Given the description of an element on the screen output the (x, y) to click on. 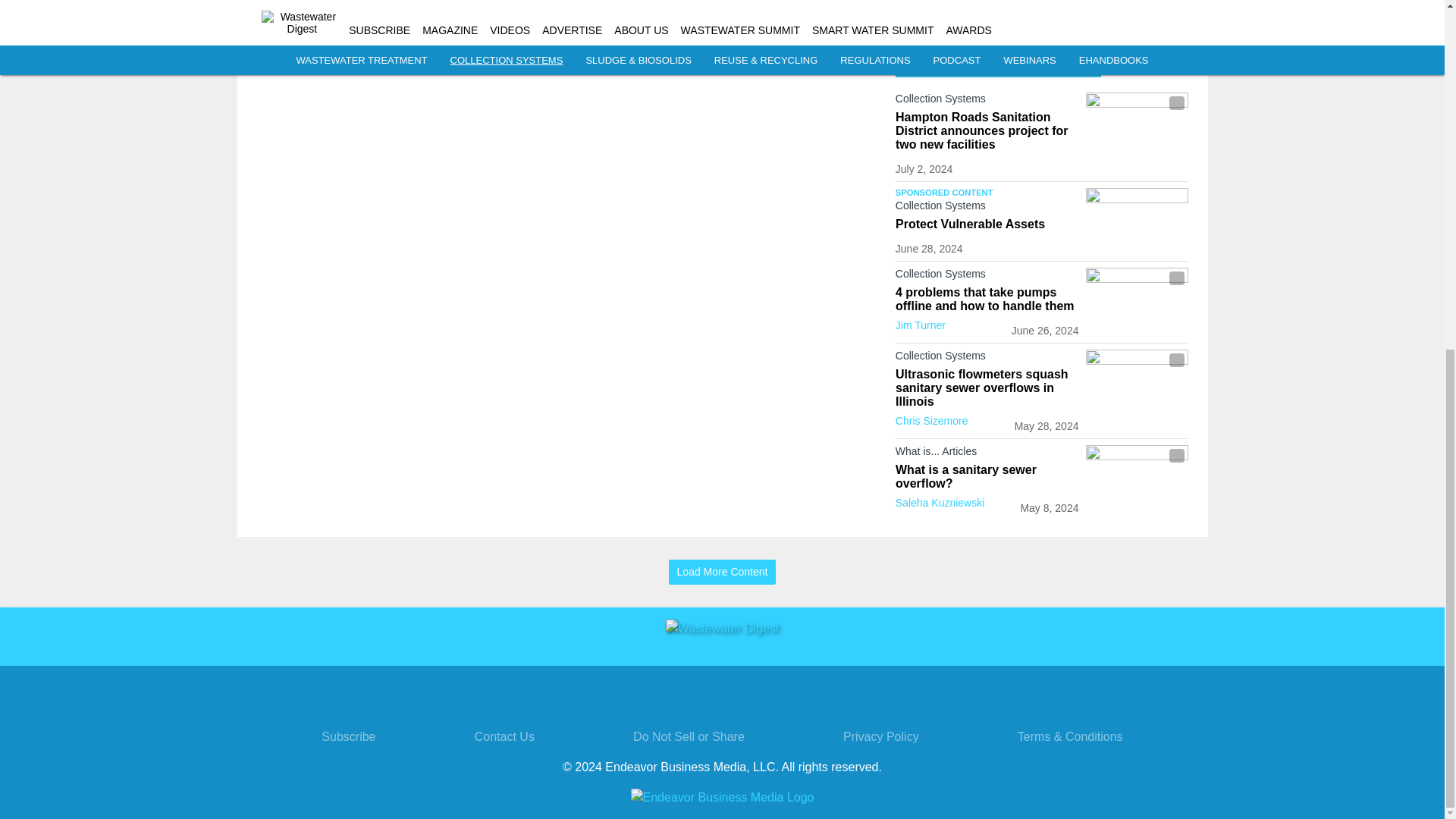
Collection Systems (986, 208)
Collection Systems (986, 101)
LATEST IN COLLECTION SYSTEMS (997, 61)
Protect Vulnerable Assets (986, 223)
AMT Pump Co. (986, 2)
